Given the description of an element on the screen output the (x, y) to click on. 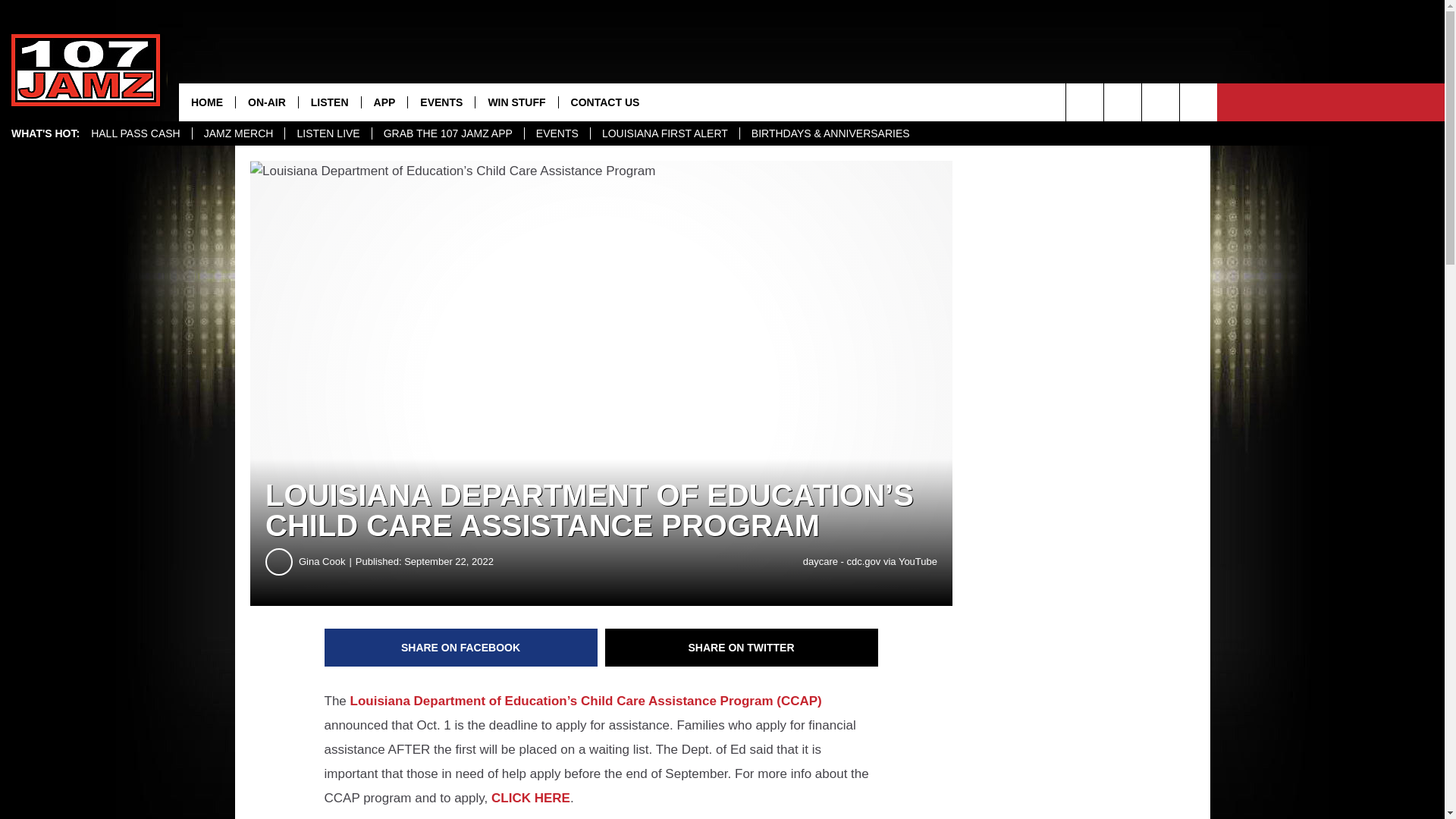
LISTEN LIVE (327, 133)
APP (384, 102)
ON-AIR (266, 102)
Share on Facebook (460, 647)
GRAB THE 107 JAMZ APP (447, 133)
EVENTS (556, 133)
HALL PASS CASH (136, 133)
EVENTS (440, 102)
HOME (206, 102)
WIN STUFF (515, 102)
LOUISIANA FIRST ALERT (664, 133)
CONTACT US (604, 102)
LISTEN (329, 102)
JAMZ MERCH (238, 133)
Share on Twitter (741, 647)
